Given the description of an element on the screen output the (x, y) to click on. 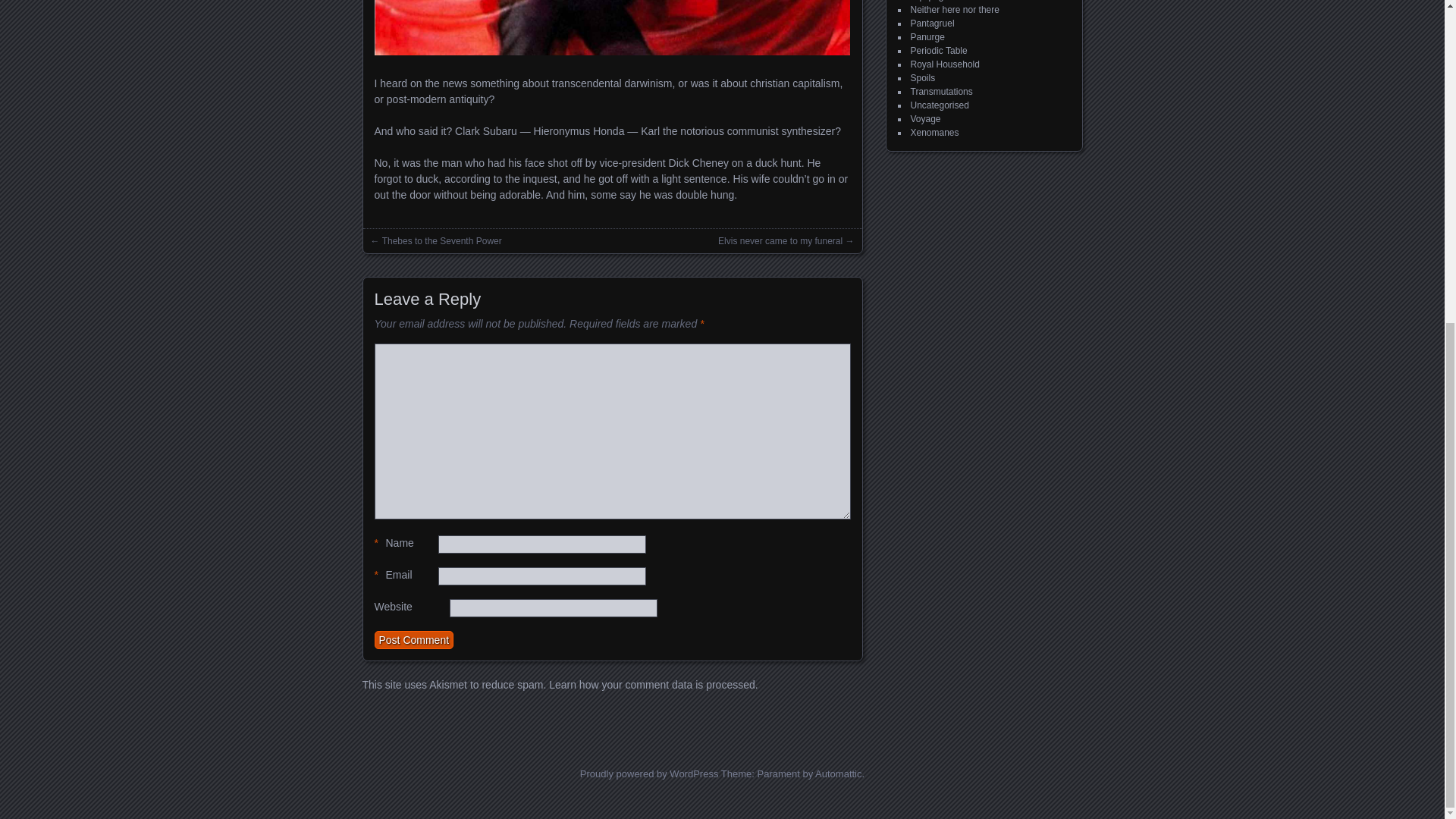
Equipage (929, 0)
Post Comment (414, 639)
Periodic Table (938, 50)
Learn how your comment data is processed (651, 684)
Royal Household (944, 63)
Spoils (922, 77)
Pantagruel (931, 23)
Uncategorised (939, 104)
Thebes to the Seventh Power (441, 240)
Transmutations (941, 91)
Post Comment (414, 639)
Xenomanes (934, 132)
Panurge (926, 36)
Voyage (925, 118)
Elvis never came to my funeral (780, 240)
